Given the description of an element on the screen output the (x, y) to click on. 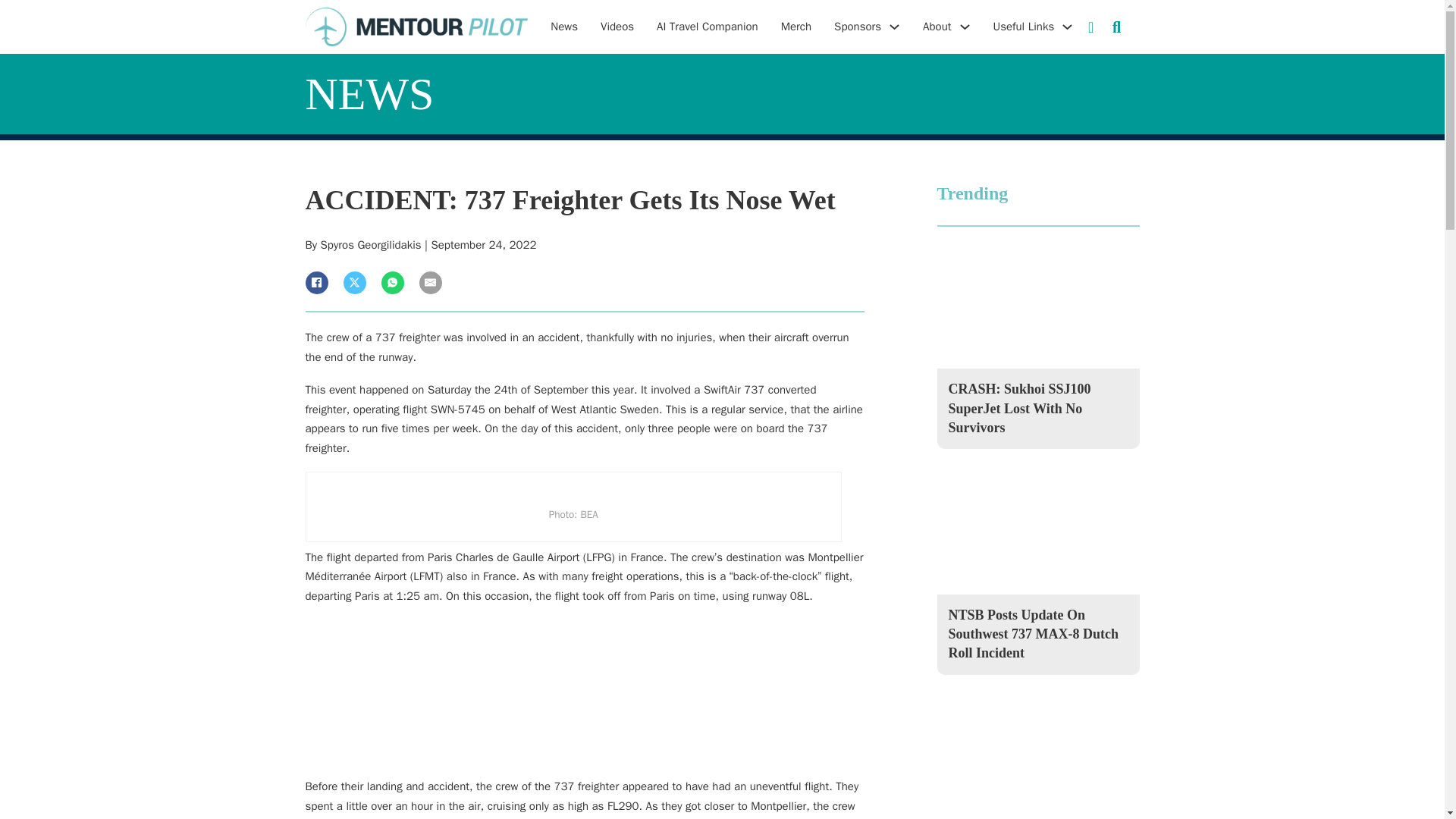
Sponsors (857, 26)
News (564, 26)
About (936, 26)
Useful Links (1023, 26)
Merch (795, 26)
AI Travel Companion (707, 26)
Videos (616, 26)
